Given the description of an element on the screen output the (x, y) to click on. 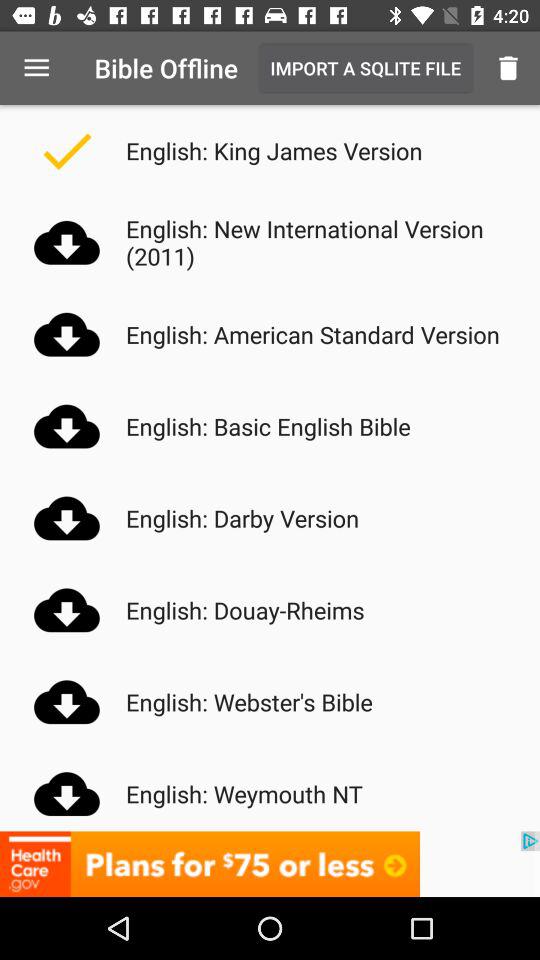
lower advertisement bar (270, 864)
